Given the description of an element on the screen output the (x, y) to click on. 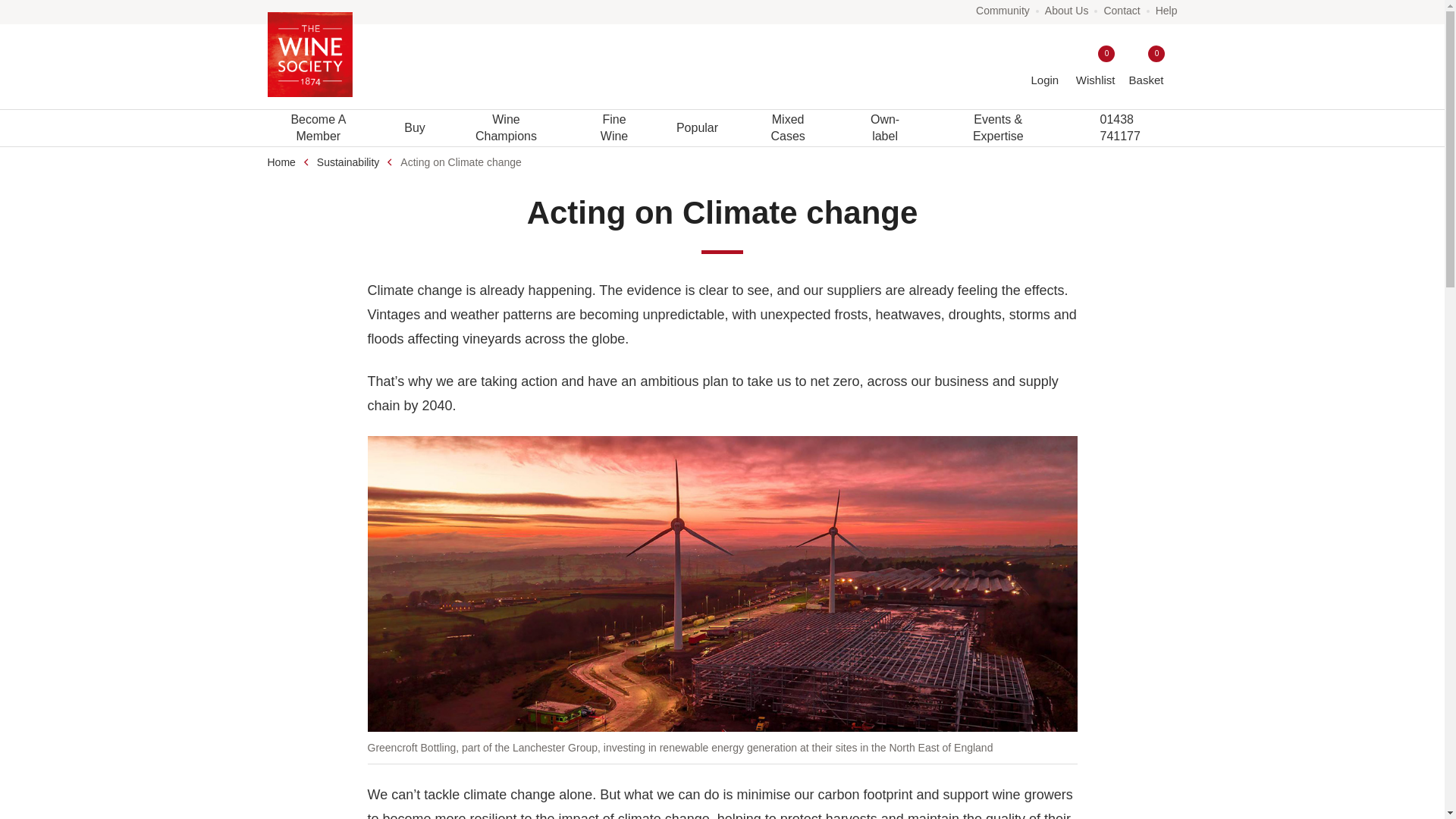
About Us (1067, 10)
Become A Member (318, 127)
Login (1095, 66)
Community (1045, 66)
Buy (1002, 10)
Contact (1145, 66)
Help (414, 127)
